Given the description of an element on the screen output the (x, y) to click on. 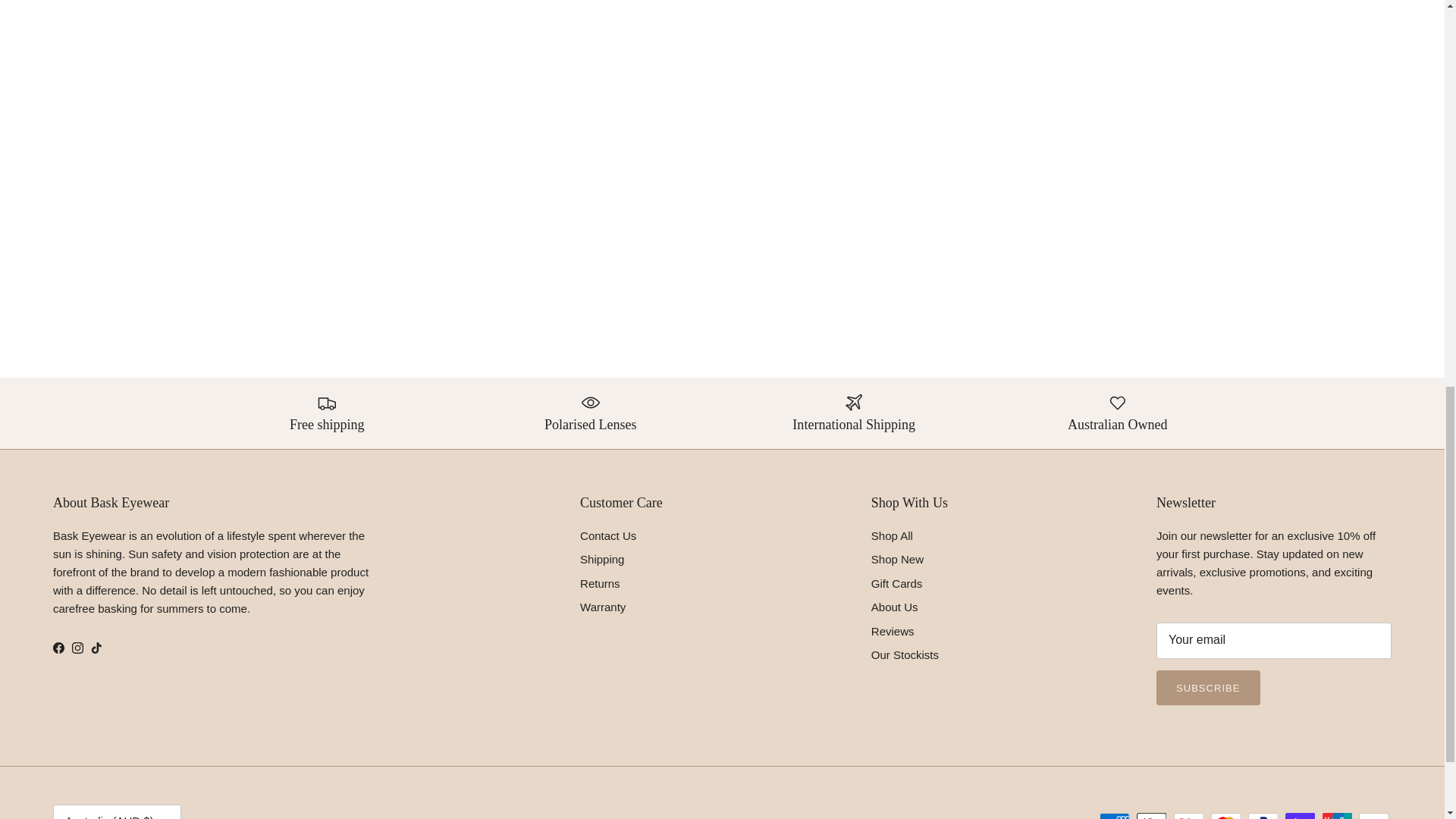
Google Pay (1188, 816)
Apple Pay (1151, 816)
Mastercard (1225, 816)
American Express (1114, 816)
Bask Eyewear on Instagram (76, 647)
Bask Eyewear on TikTok (95, 647)
Shop Pay (1299, 816)
PayPal (1262, 816)
Bask Eyewear on Facebook (58, 647)
